Given the description of an element on the screen output the (x, y) to click on. 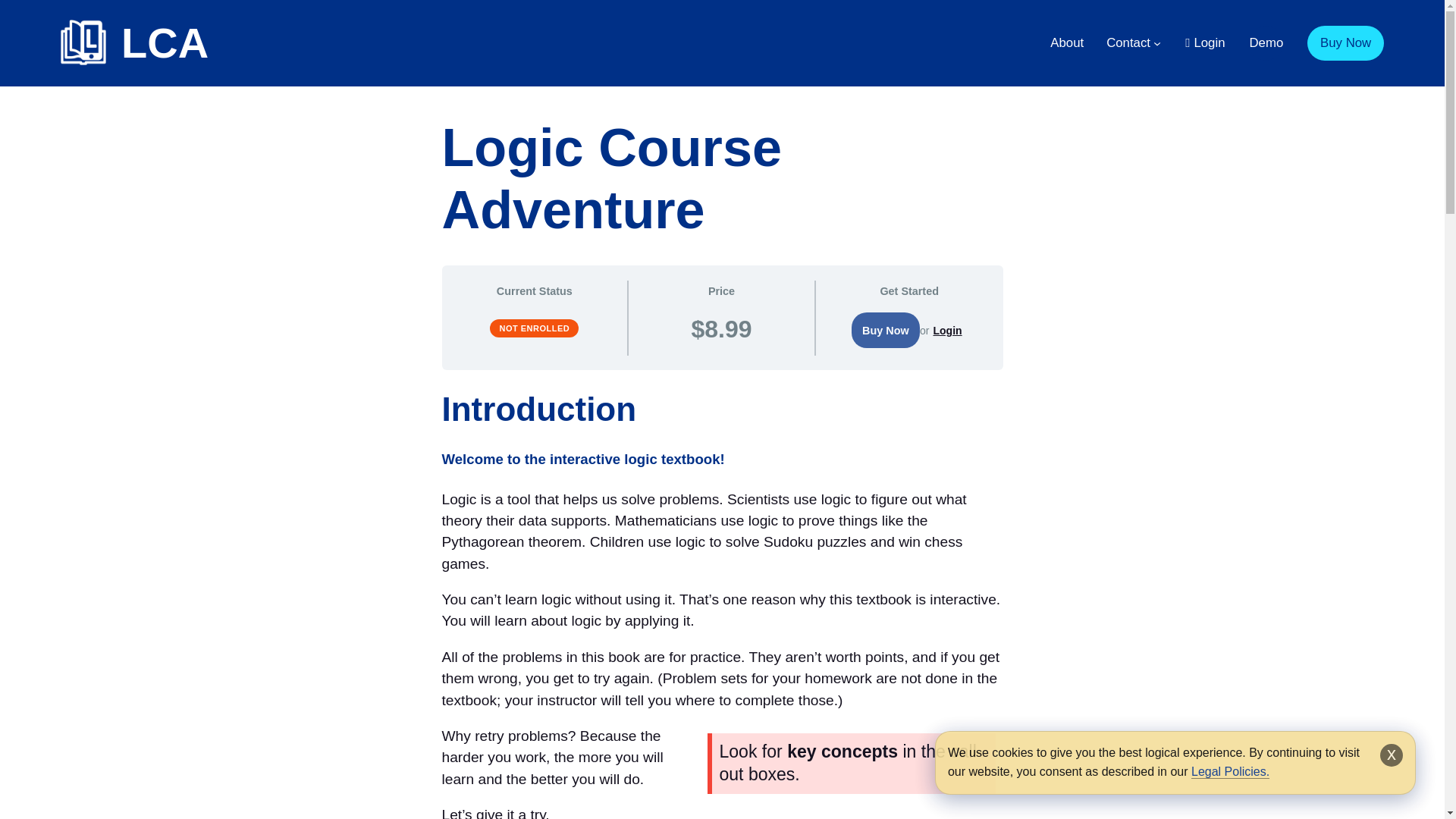
Buy Now (1345, 42)
Buy Now (885, 330)
Buy Now (885, 330)
About (1066, 43)
LCA (164, 42)
Demo (1265, 42)
Login (1204, 42)
Contact (1128, 43)
x (1391, 754)
Legal Policies. (1230, 771)
Login (947, 330)
